Given the description of an element on the screen output the (x, y) to click on. 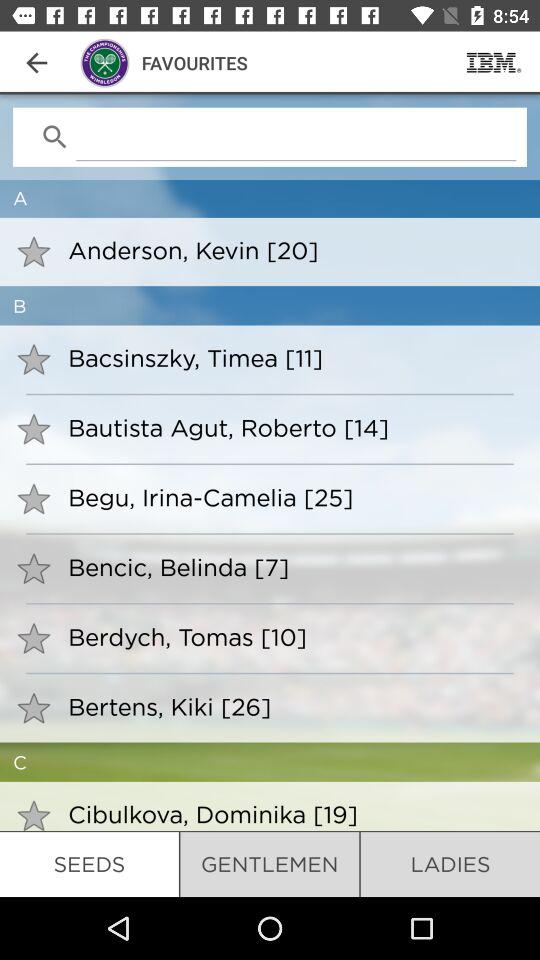
open bertens, kiki [26] (290, 706)
